Given the description of an element on the screen output the (x, y) to click on. 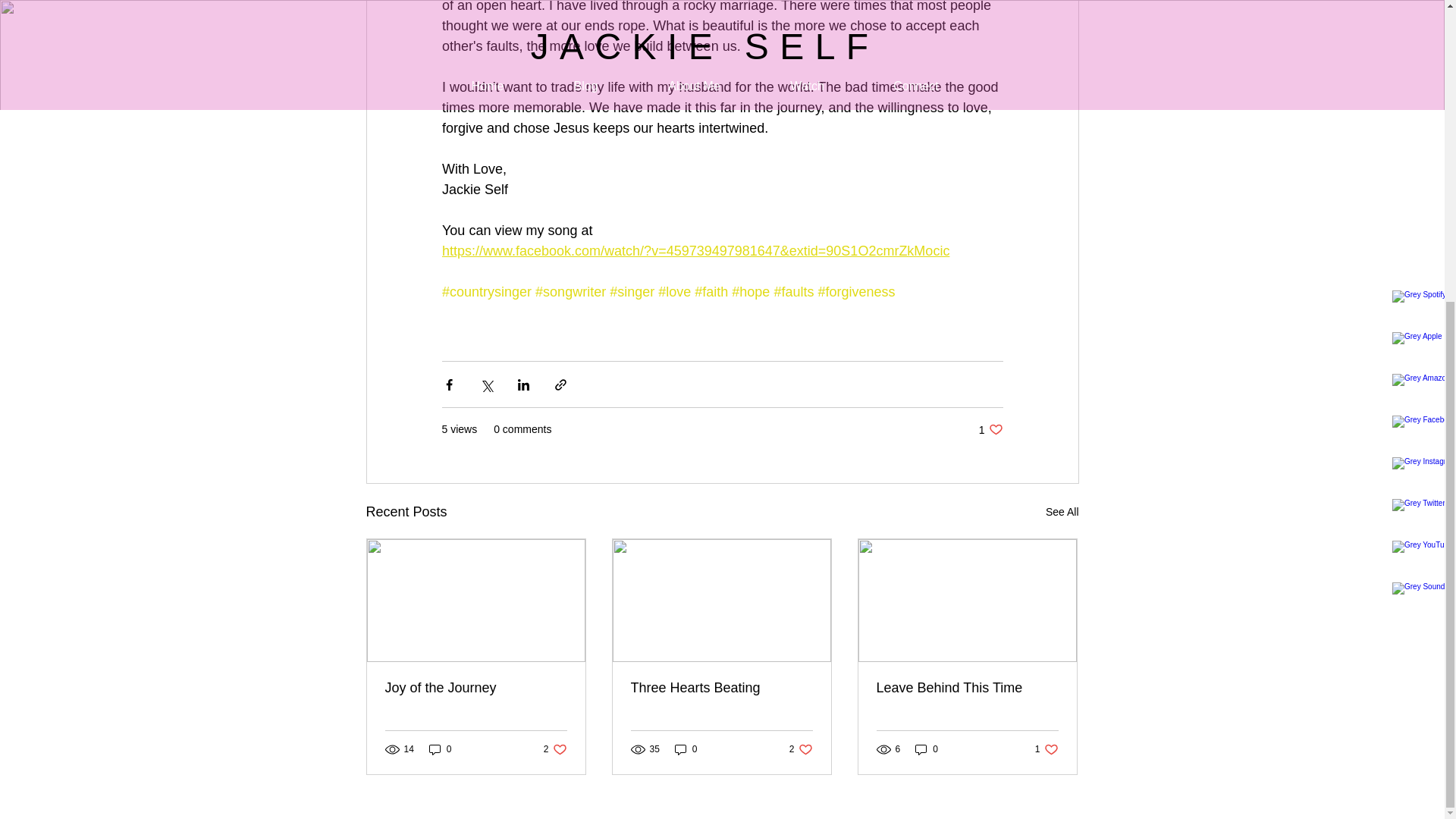
See All (555, 749)
0 (1061, 512)
0 (440, 749)
Three Hearts Beating (990, 429)
Joy of the Journey (685, 749)
